Given the description of an element on the screen output the (x, y) to click on. 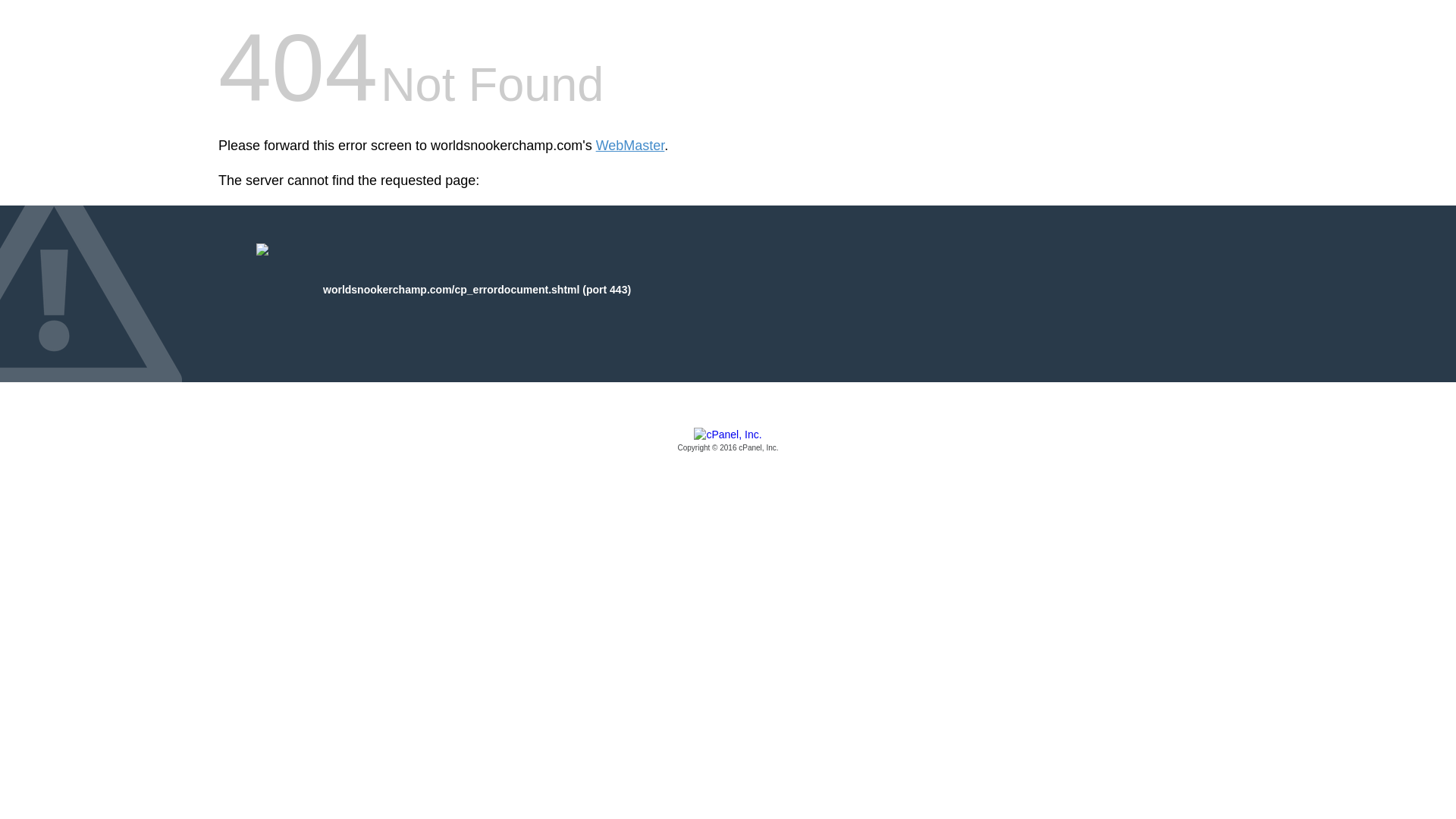
WebMaster (630, 145)
cPanel, Inc. (727, 440)
